Given the description of an element on the screen output the (x, y) to click on. 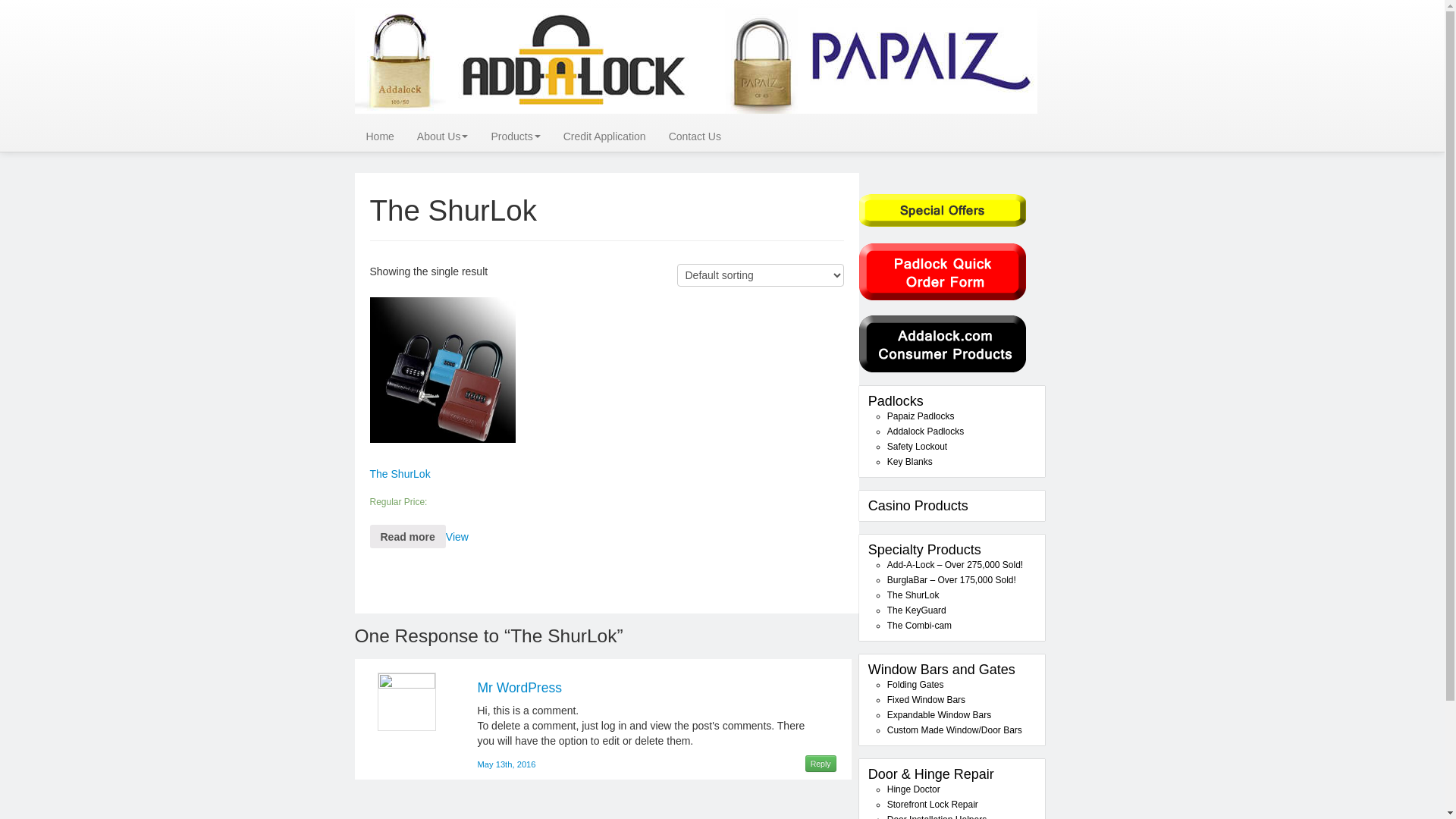
Read more Element type: text (407, 536)
View Element type: text (456, 536)
Addalock Padlocks Element type: text (925, 431)
Contact Us Element type: text (694, 136)
The ShurLok
Regular Price: Element type: text (442, 419)
Hinge Doctor Element type: text (913, 789)
Safety Lockout Element type: text (917, 446)
The Combi-cam Element type: text (919, 625)
Home Element type: text (379, 136)
The ShurLok Element type: text (913, 594)
The KeyGuard Element type: text (916, 610)
Mr WordPress Element type: text (518, 687)
Expandable Window Bars Element type: text (939, 714)
Representing Papaiz of Canada Element type: hover (695, 60)
Casino Products Element type: text (918, 505)
Specialty Products Element type: text (924, 549)
Credit Application Element type: text (604, 136)
Fixed Window Bars Element type: text (926, 699)
About Us Element type: text (442, 136)
Padlocks Element type: text (895, 400)
May 13th, 2016 Element type: text (505, 763)
Folding Gates Element type: text (915, 684)
Storefront Lock Repair Element type: text (932, 804)
Papaiz Padlocks Element type: text (920, 416)
Window Bars and Gates Element type: text (941, 669)
Custom Made Window/Door Bars Element type: text (954, 729)
Door & Hinge Repair Element type: text (931, 773)
Key Blanks Element type: text (909, 461)
Reply Element type: text (820, 763)
Products Element type: text (515, 136)
